Given the description of an element on the screen output the (x, y) to click on. 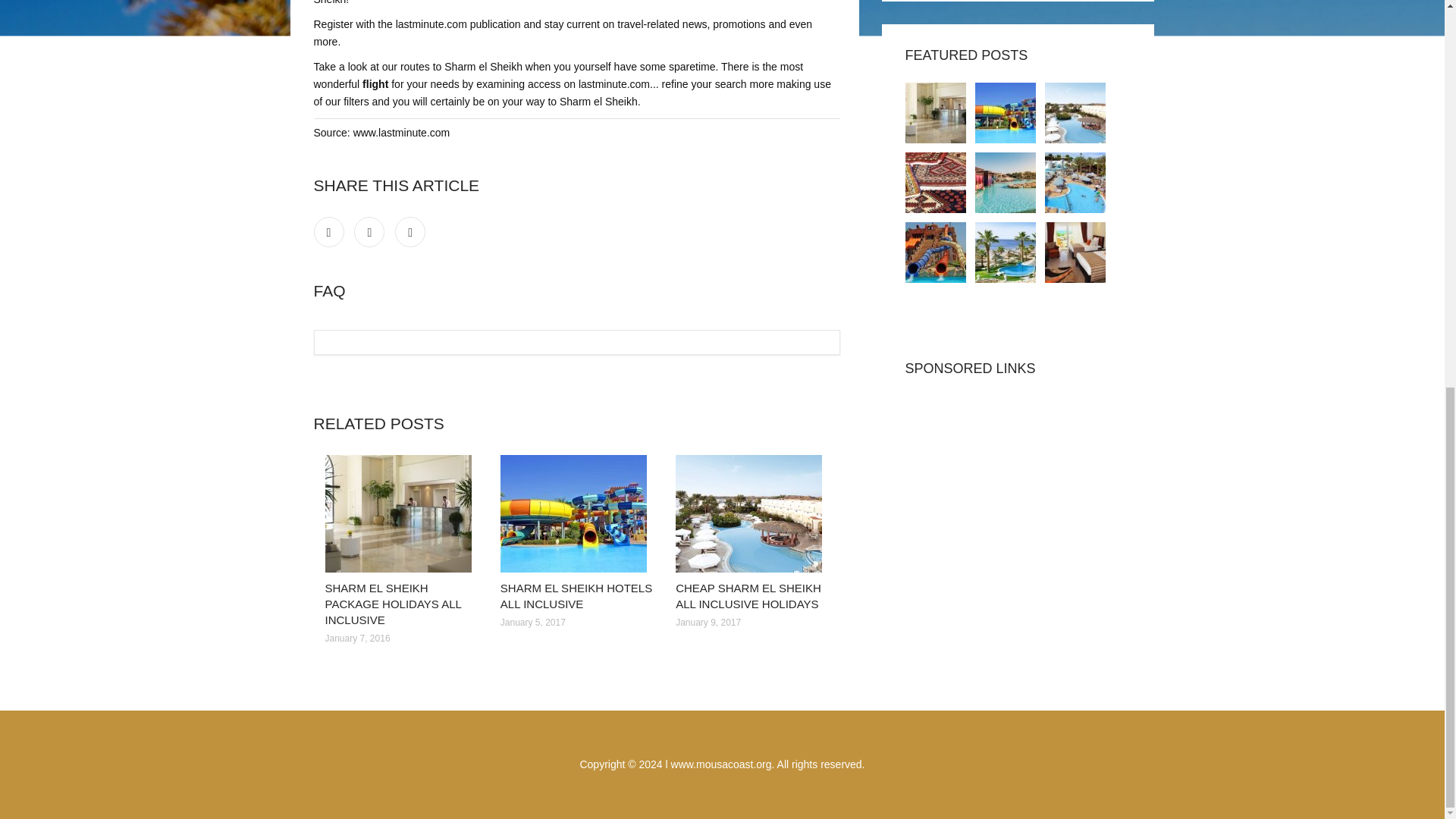
CHEAP SHARM EL SHEIKH ALL INCLUSIVE HOLIDAYS (748, 595)
All Inclusive Sharm El Sheikh 2015 (1005, 182)
Cheap Sharm El Sheikh All Inclusive Holidays (1075, 112)
Sharm El Sheikh hotels All Inclusive (1005, 112)
Hotels, Sharm El Sheikh All Inclusive (1005, 251)
SHARM EL SHEIKH PACKAGE HOLIDAYS ALL INCLUSIVE (392, 603)
SHARM EL SHEIKH HOTELS ALL INCLUSIVE (576, 595)
Sharm El Sheikh package Holidays All Inclusive (935, 112)
All Inclusive Holidays Sharm El Sheikh (935, 182)
Sharm El Sheikh hotels All Inclusive (576, 513)
